Given the description of an element on the screen output the (x, y) to click on. 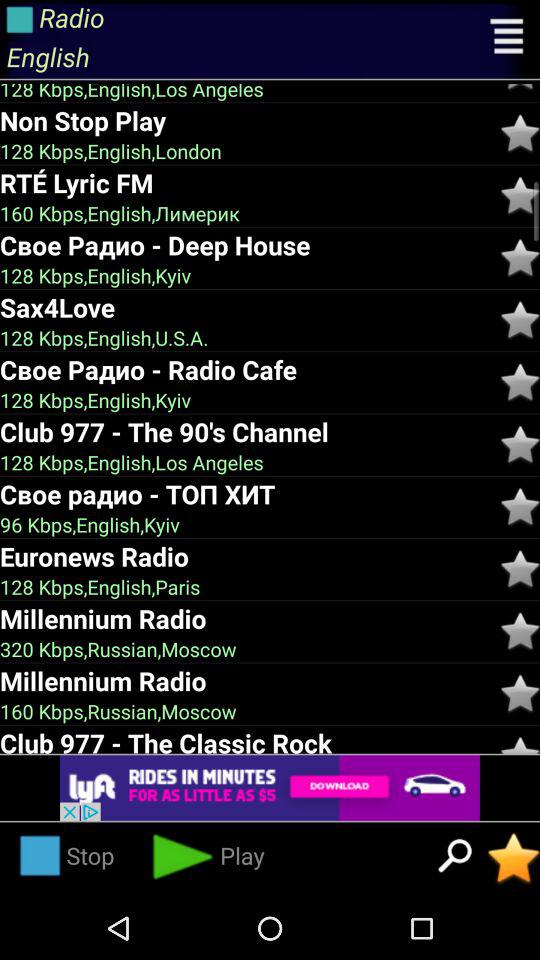
switch the star 90 's chennel (520, 444)
